Given the description of an element on the screen output the (x, y) to click on. 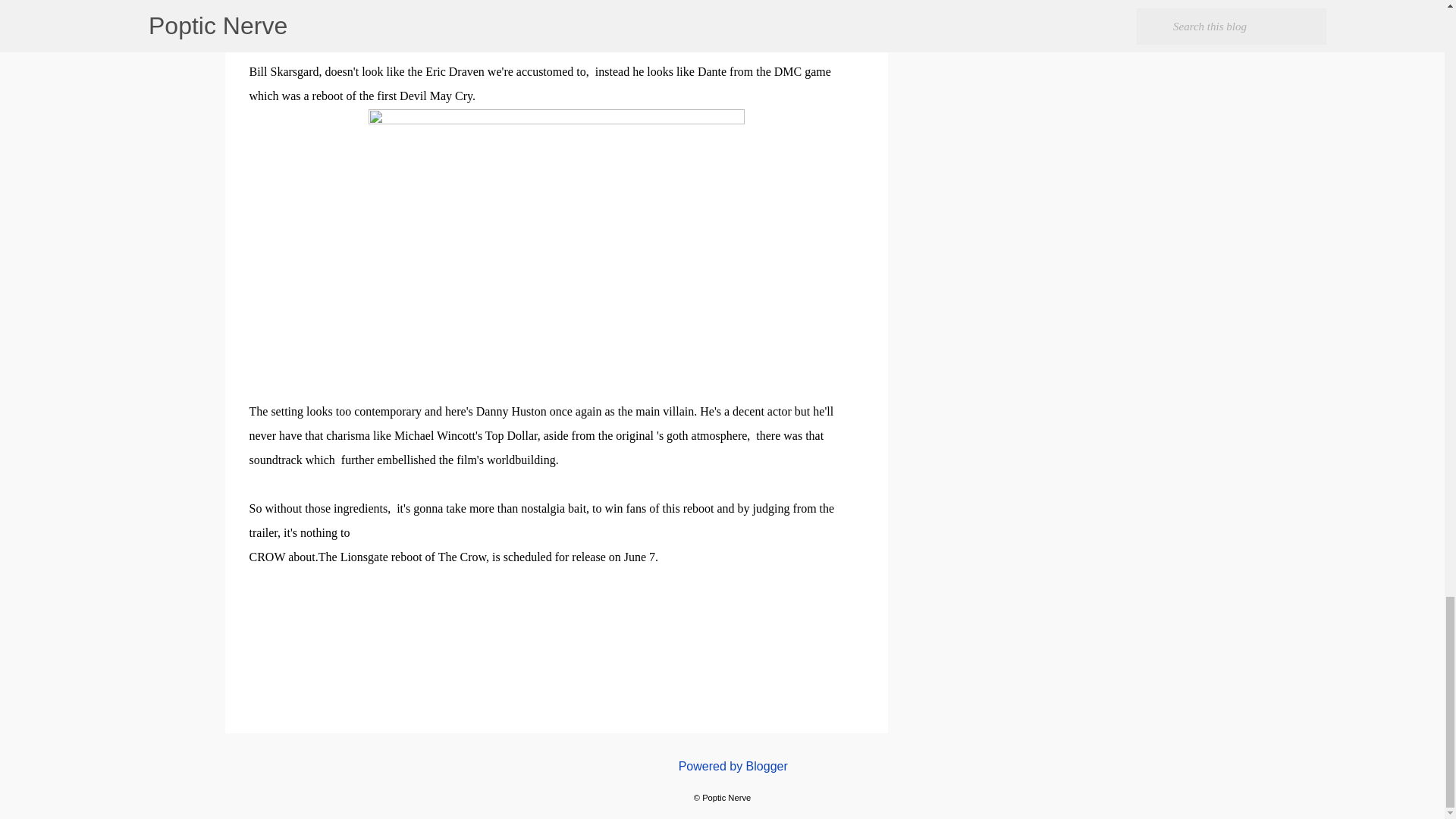
Powered by Blogger (721, 766)
